Given the description of an element on the screen output the (x, y) to click on. 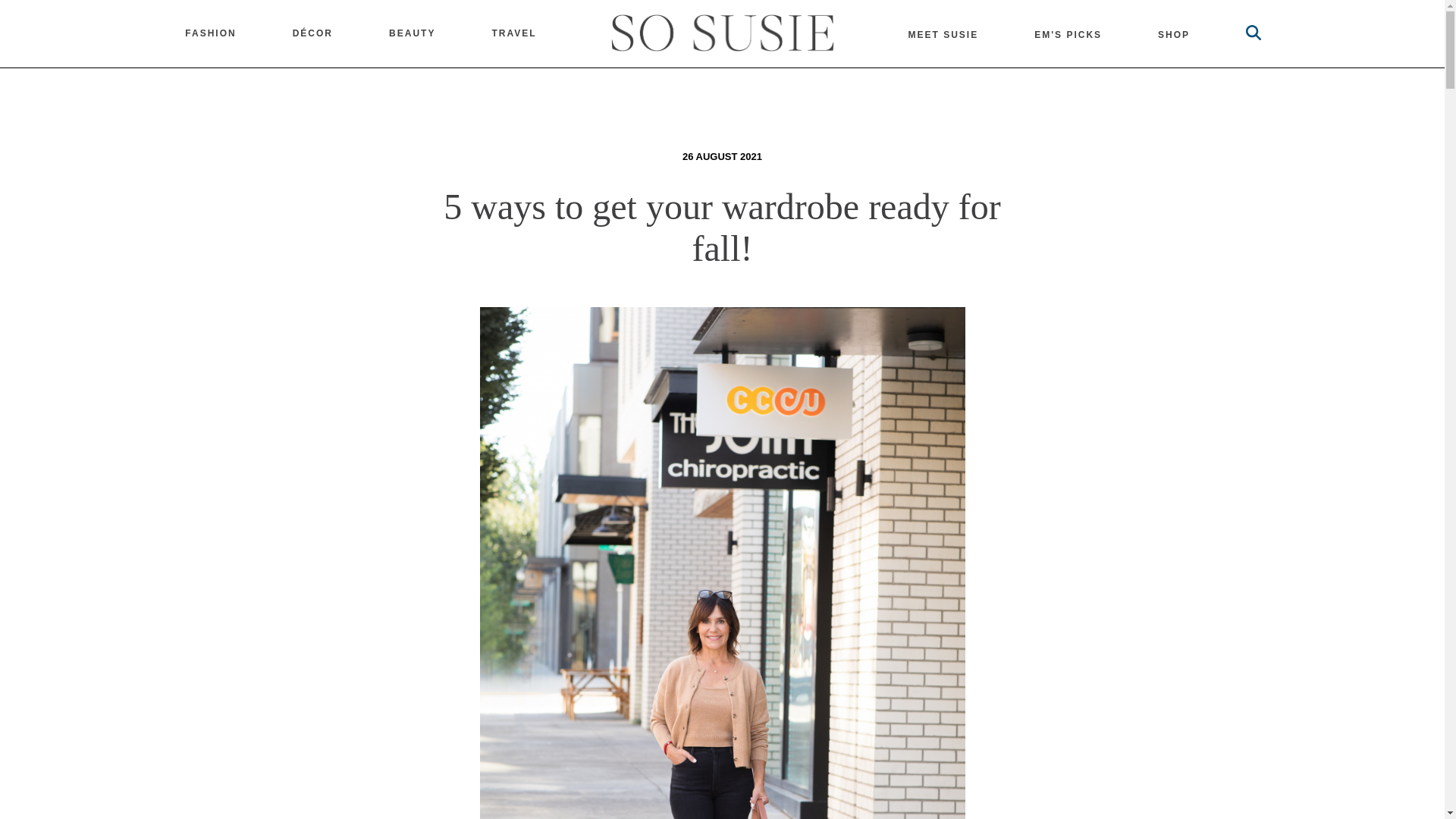
FASHION (209, 33)
BEAUTY (411, 33)
TRAVEL (513, 33)
